Given the description of an element on the screen output the (x, y) to click on. 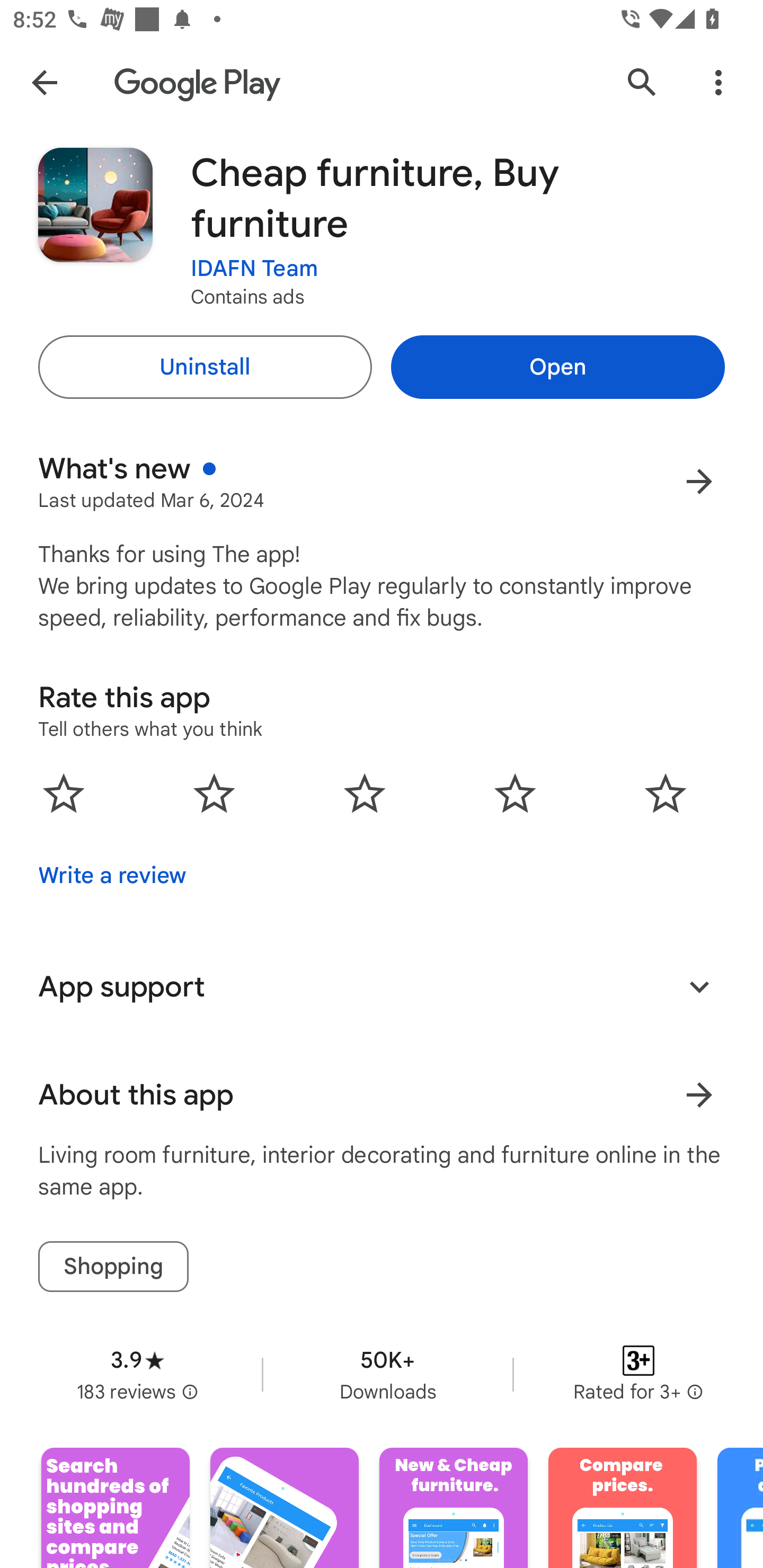
Navigate up (44, 81)
Search Google Play (642, 81)
More Options (718, 81)
IDAFN Team (254, 268)
Uninstall (205, 366)
Open (557, 366)
More results for What's new (699, 481)
0.0 (364, 792)
Write a review (112, 875)
App support Expand (381, 986)
Expand (699, 986)
About this app Learn more About this app (381, 1094)
Learn more About this app (699, 1094)
Shopping tag (113, 1265)
Average rating 3.9 stars in 183 reviews (137, 1374)
Content rating Rated for 3+ (638, 1374)
Screenshot "1" of "7" (115, 1507)
Screenshot "2" of "7" (284, 1507)
Screenshot "3" of "7" (453, 1507)
Screenshot "4" of "7" (622, 1507)
